Given the description of an element on the screen output the (x, y) to click on. 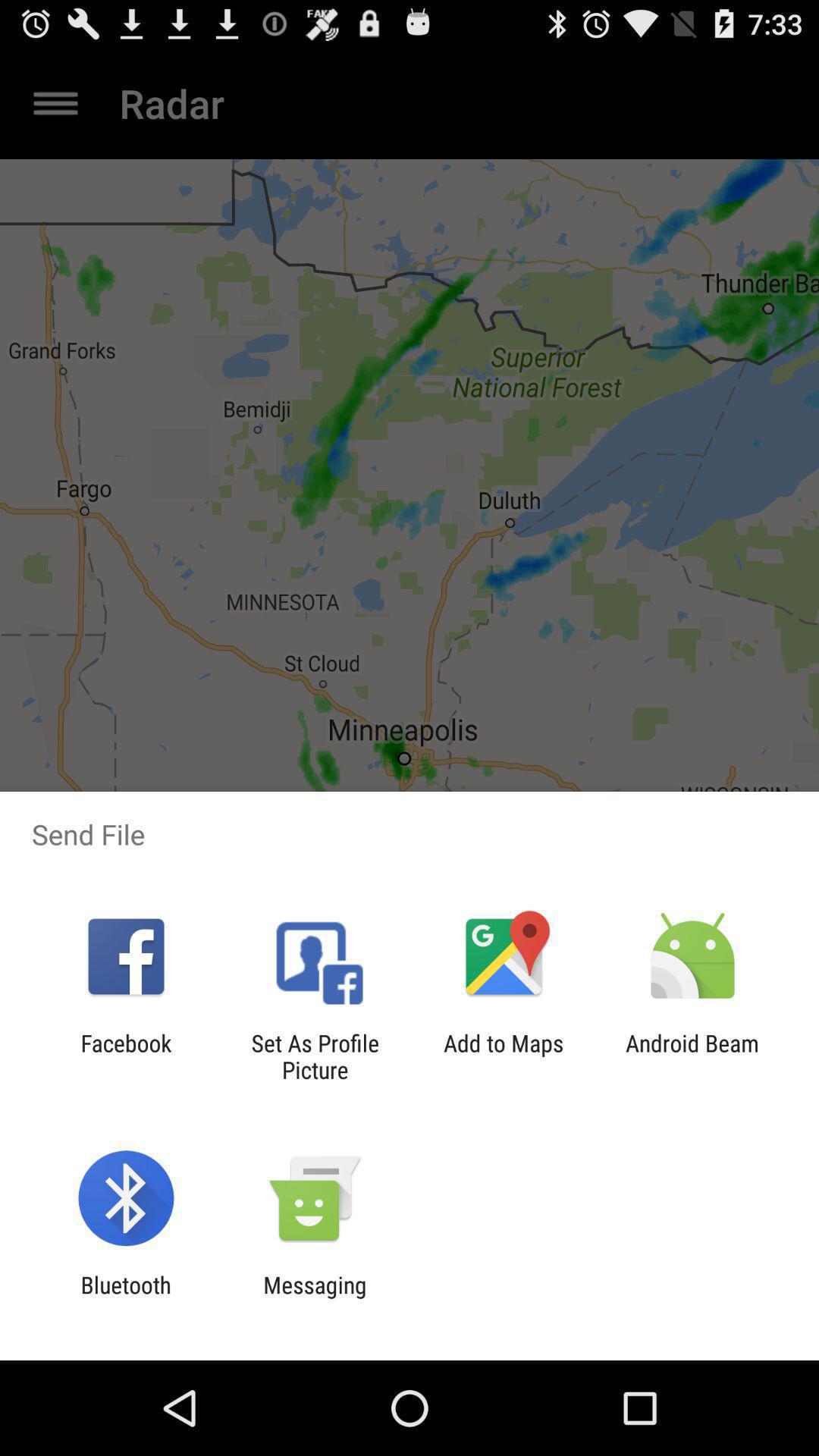
click the icon to the right of the add to maps icon (692, 1056)
